Given the description of an element on the screen output the (x, y) to click on. 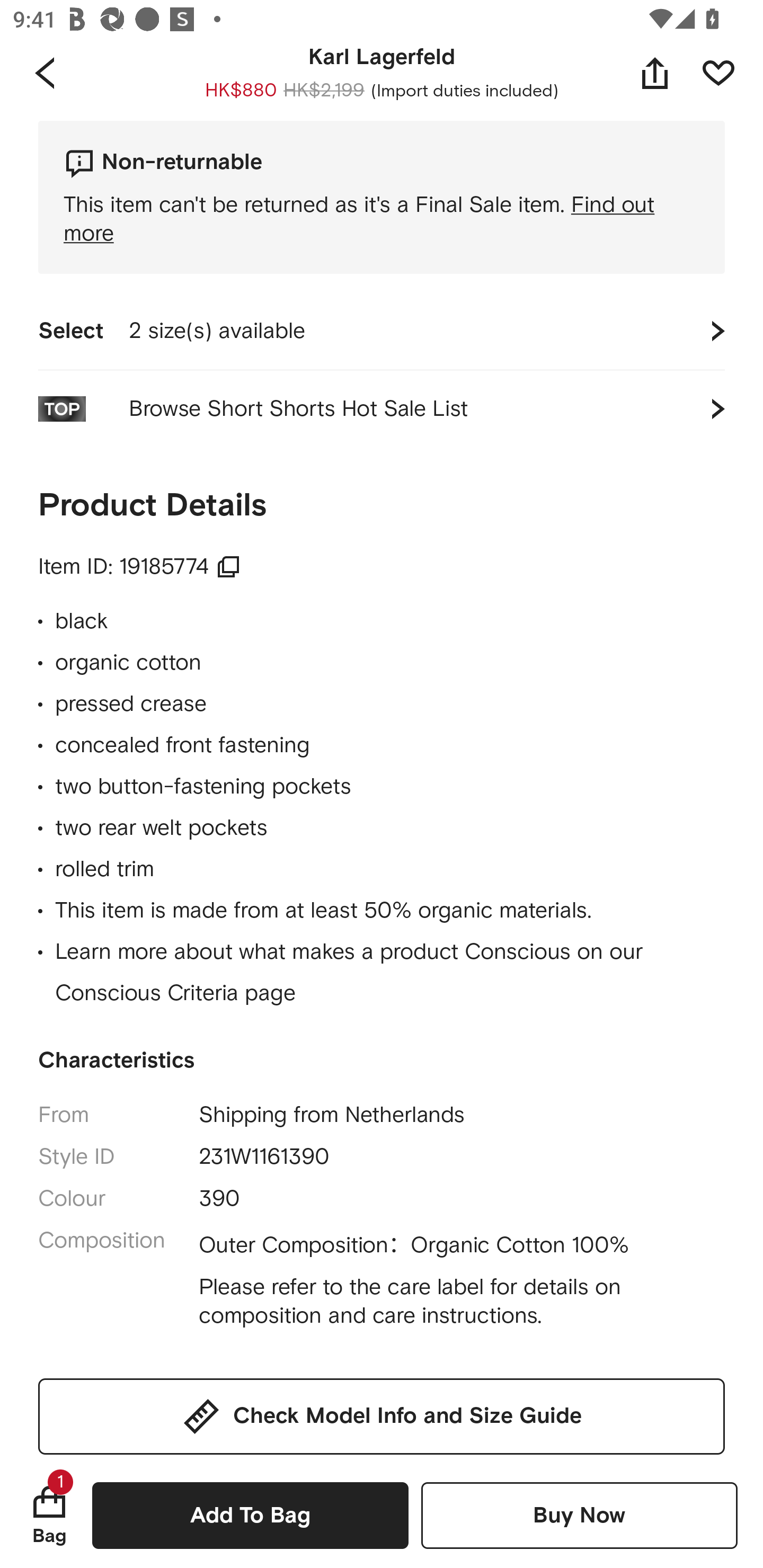
Select 2 size(s) available (381, 330)
Browse Short Shorts Hot Sale List (381, 408)
Item ID: 19185774 (139, 566)
 Check Model Info and Size Guide (381, 1416)
Bag 1 (49, 1515)
Add To Bag (250, 1515)
Buy Now (579, 1515)
